Given the description of an element on the screen output the (x, y) to click on. 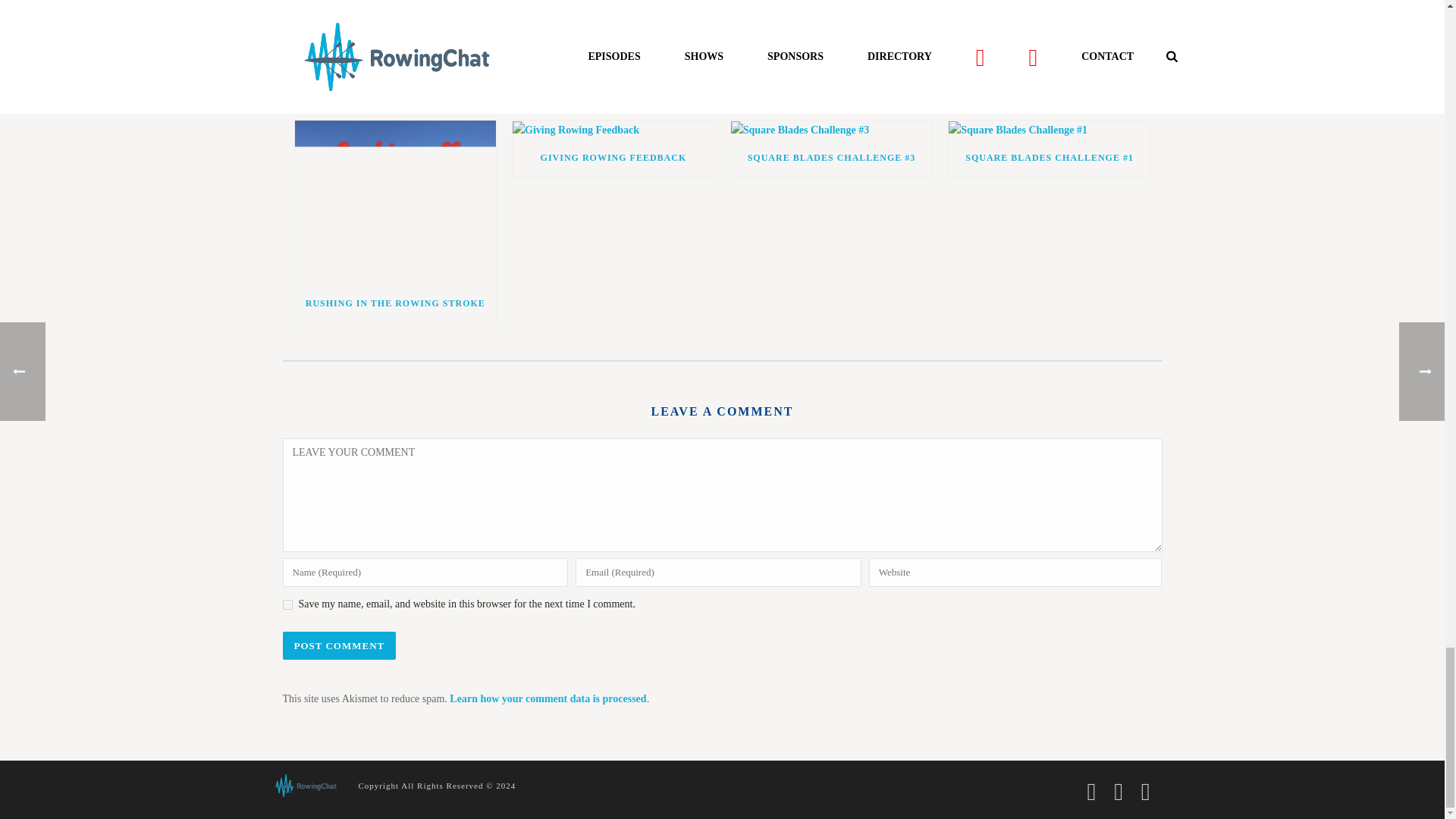
Rushing in the rowing stroke (395, 202)
Follow me on Twitter (352, 18)
Get in touch with me via email (372, 18)
yes (287, 604)
Giving Rowing Feedback (613, 129)
POST COMMENT (339, 645)
